Given the description of an element on the screen output the (x, y) to click on. 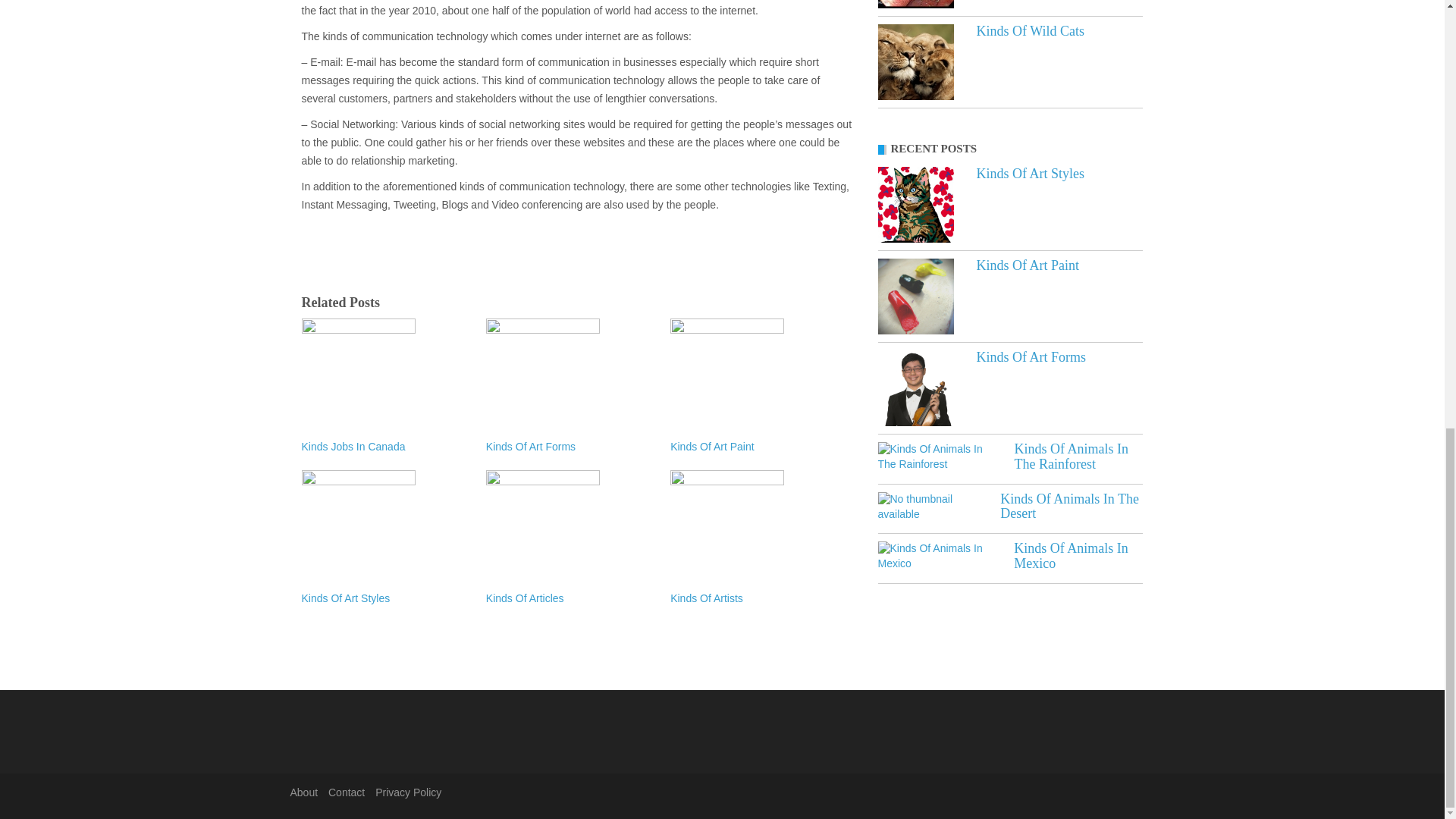
Kinds Of Artists (754, 598)
Kinds Of Art Paint (915, 296)
Kinds Of Art Styles (915, 204)
Kinds Jobs In Canada (385, 447)
Kinds Of Art Paint (1028, 264)
Kinds Of Art Styles (385, 598)
Kinds Of Wild Cats (1030, 30)
Kinds Of Art Forms (570, 447)
Kinds Of Art Paint (1028, 264)
Kinds Of Art Styles (1030, 173)
Kinds Of Articles (570, 598)
Kinds Of Art Forms (1031, 356)
Kinds Of Wild Cats (1030, 30)
Kinds Of Wild Cats (915, 61)
Kinds Of Art Paint (754, 447)
